Given the description of an element on the screen output the (x, y) to click on. 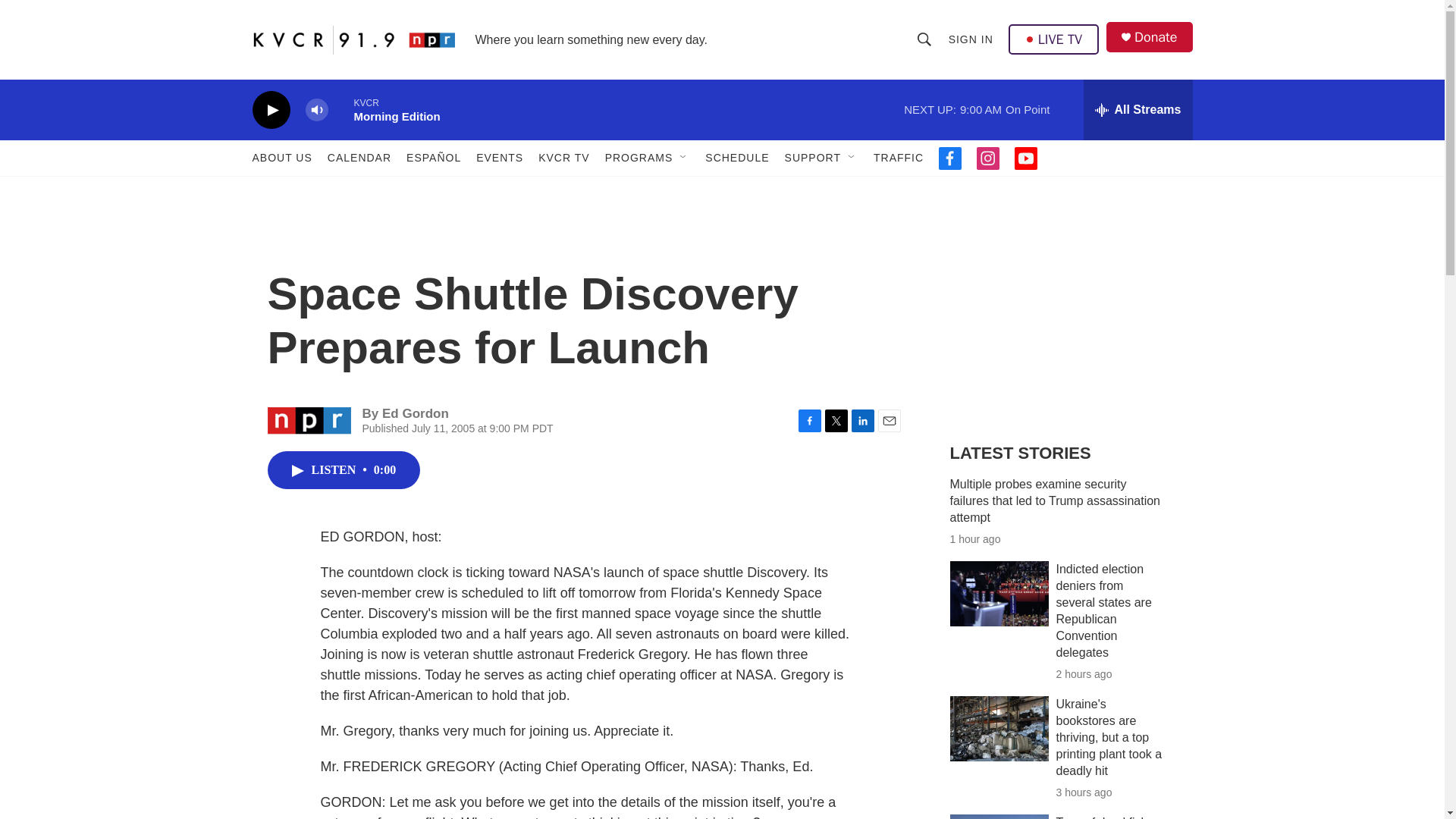
3rd party ad content (1062, 316)
